Given the description of an element on the screen output the (x, y) to click on. 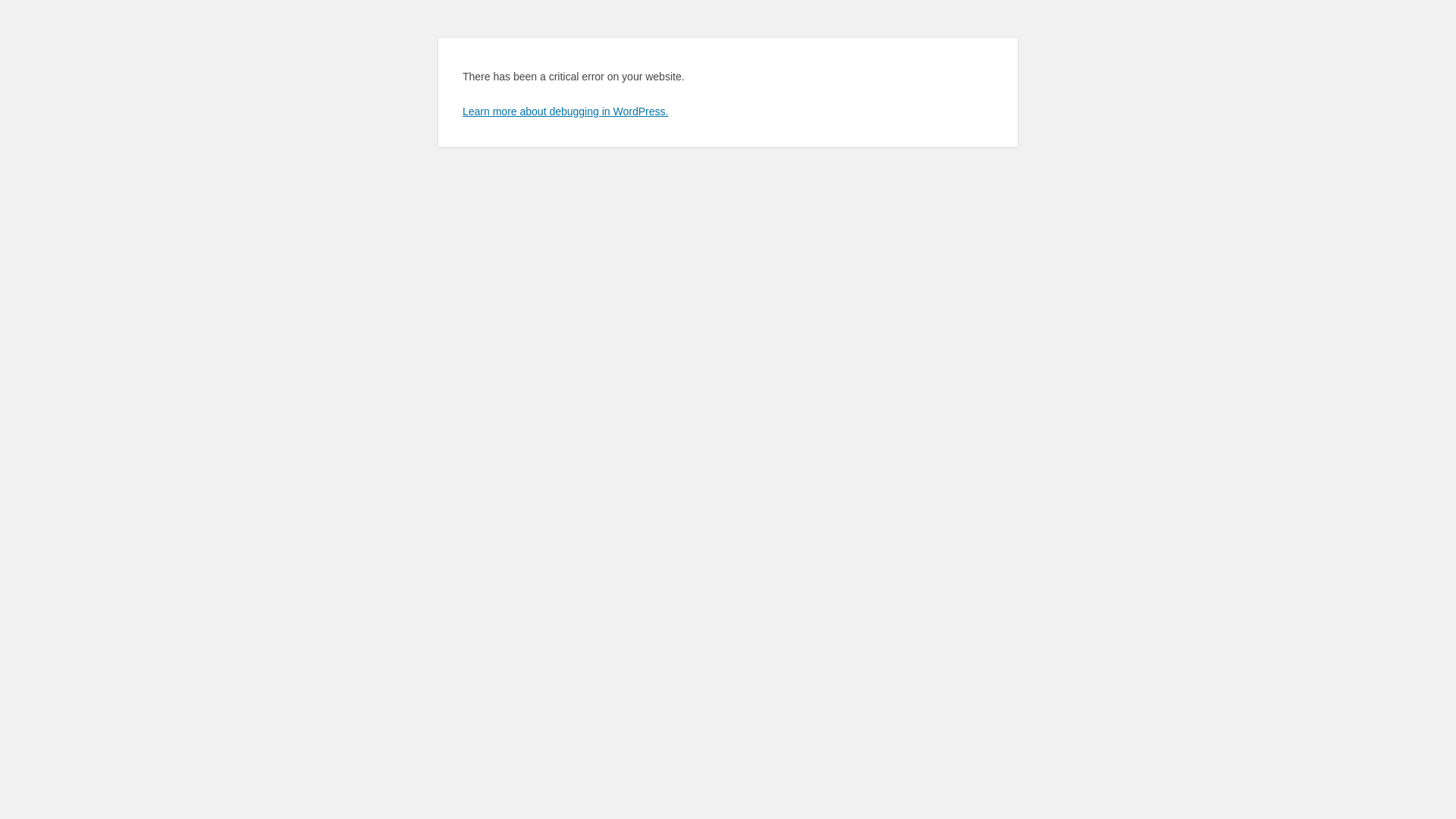
Learn more about debugging in WordPress. Element type: text (565, 111)
